Given the description of an element on the screen output the (x, y) to click on. 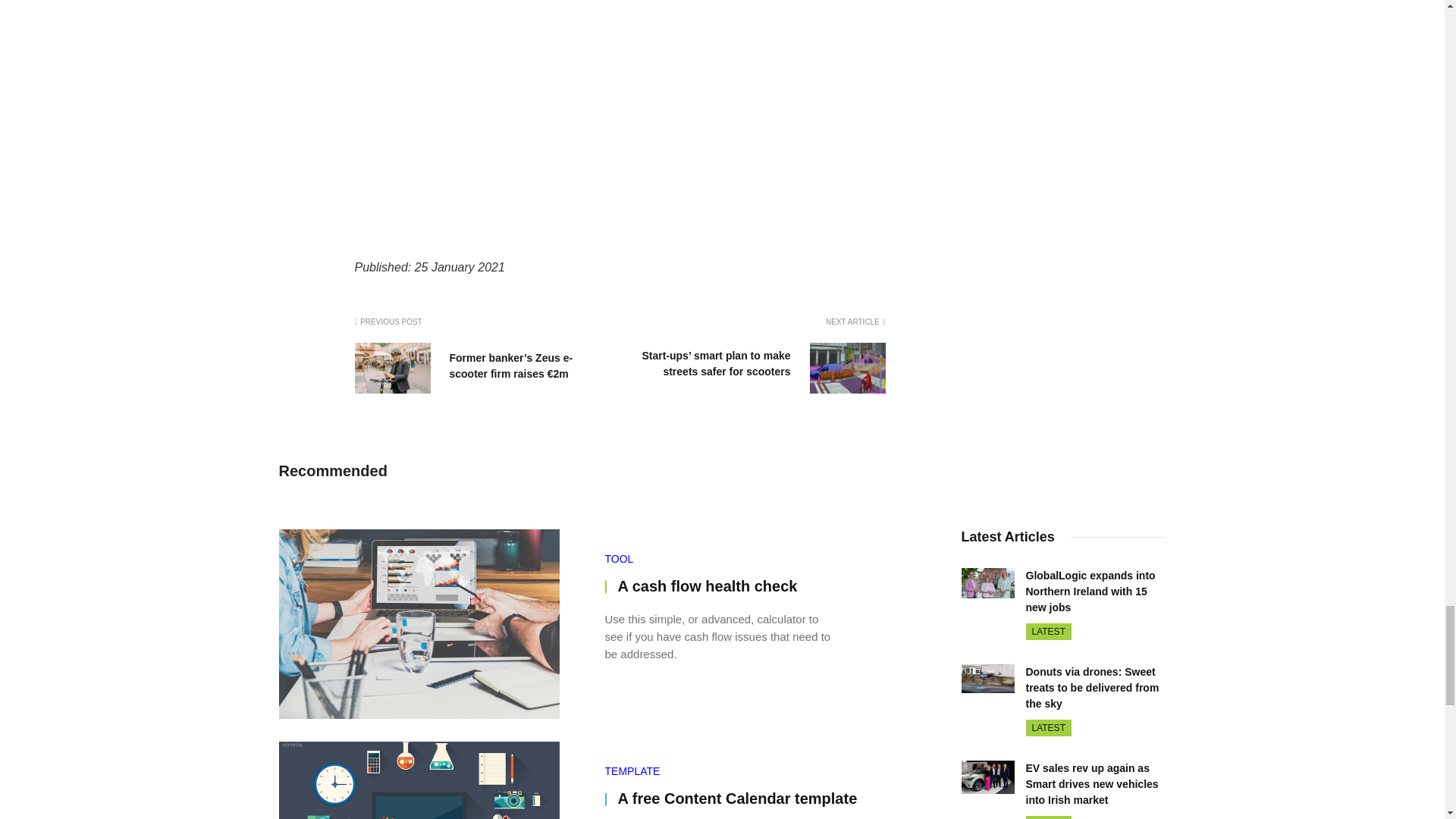
It's time to get your business selling online (620, 113)
